Given the description of an element on the screen output the (x, y) to click on. 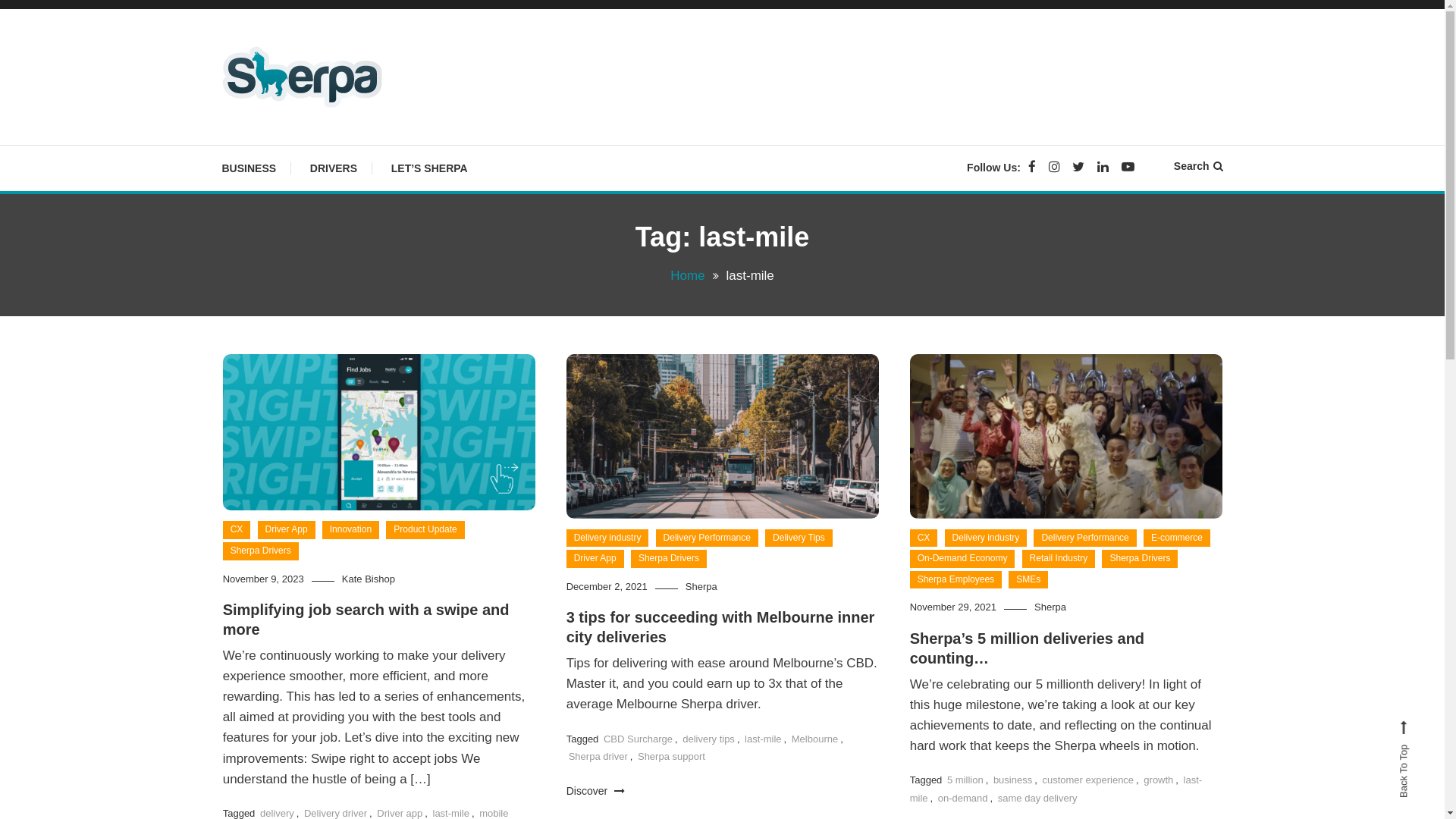
On-Demand Economy Element type: text (962, 558)
last-mile Element type: text (762, 738)
business Element type: text (1012, 779)
Kate Bishop Element type: text (368, 578)
5 million Element type: text (965, 779)
Sherpa Element type: text (701, 586)
Sherpa Drivers Element type: text (260, 551)
Delivery Performance Element type: text (1084, 538)
Sherpa Element type: text (1050, 606)
Search Element type: text (769, 432)
Melbourne Element type: text (814, 738)
growth Element type: text (1158, 779)
customer experience Element type: text (1087, 779)
SMEs Element type: text (1028, 580)
Sherpa Employees Element type: text (955, 580)
last-mile Element type: text (1055, 788)
Driver App Element type: text (595, 558)
November 29, 2021 Element type: text (953, 606)
Delivery Tips Element type: text (798, 538)
Sherpa blog Element type: text (300, 136)
BUSINESS Element type: text (256, 168)
Sherpa Drivers Element type: text (668, 558)
Sherpa Drivers Element type: text (1139, 558)
Simplifying job search with a swipe and more Element type: text (365, 619)
CX Element type: text (236, 529)
Driver App Element type: text (286, 529)
Sherpa driver Element type: text (597, 756)
CBD Surcharge Element type: text (637, 738)
Delivery industry Element type: text (607, 538)
November 9, 2023 Element type: text (263, 578)
DRIVERS Element type: text (333, 168)
December 2, 2021 Element type: text (606, 586)
E-commerce Element type: text (1176, 538)
delivery tips Element type: text (708, 738)
Innovation Element type: text (350, 529)
3 tips for succeeding with Melbourne inner city deliveries Element type: text (720, 626)
Home Element type: text (687, 275)
CX Element type: text (924, 538)
Sherpa support Element type: text (671, 756)
on-demand Element type: text (963, 797)
same day delivery Element type: text (1037, 797)
Delivery industry Element type: text (985, 538)
Product Update Element type: text (424, 529)
Retail Industry Element type: text (1058, 558)
Delivery Performance Element type: text (706, 538)
Discover Element type: text (595, 790)
